Given the description of an element on the screen output the (x, y) to click on. 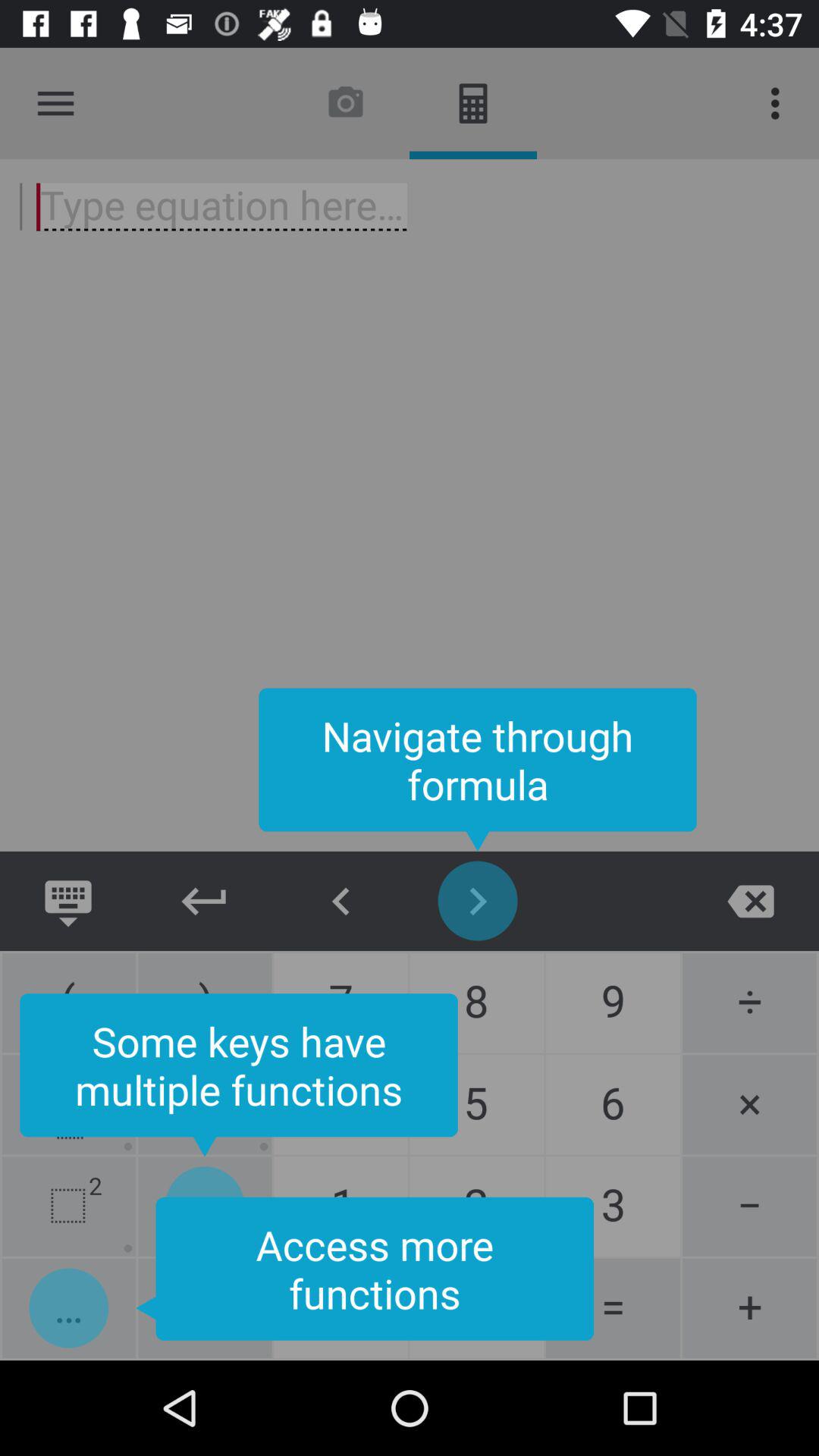
choose icon below navigate through formula (477, 900)
